Given the description of an element on the screen output the (x, y) to click on. 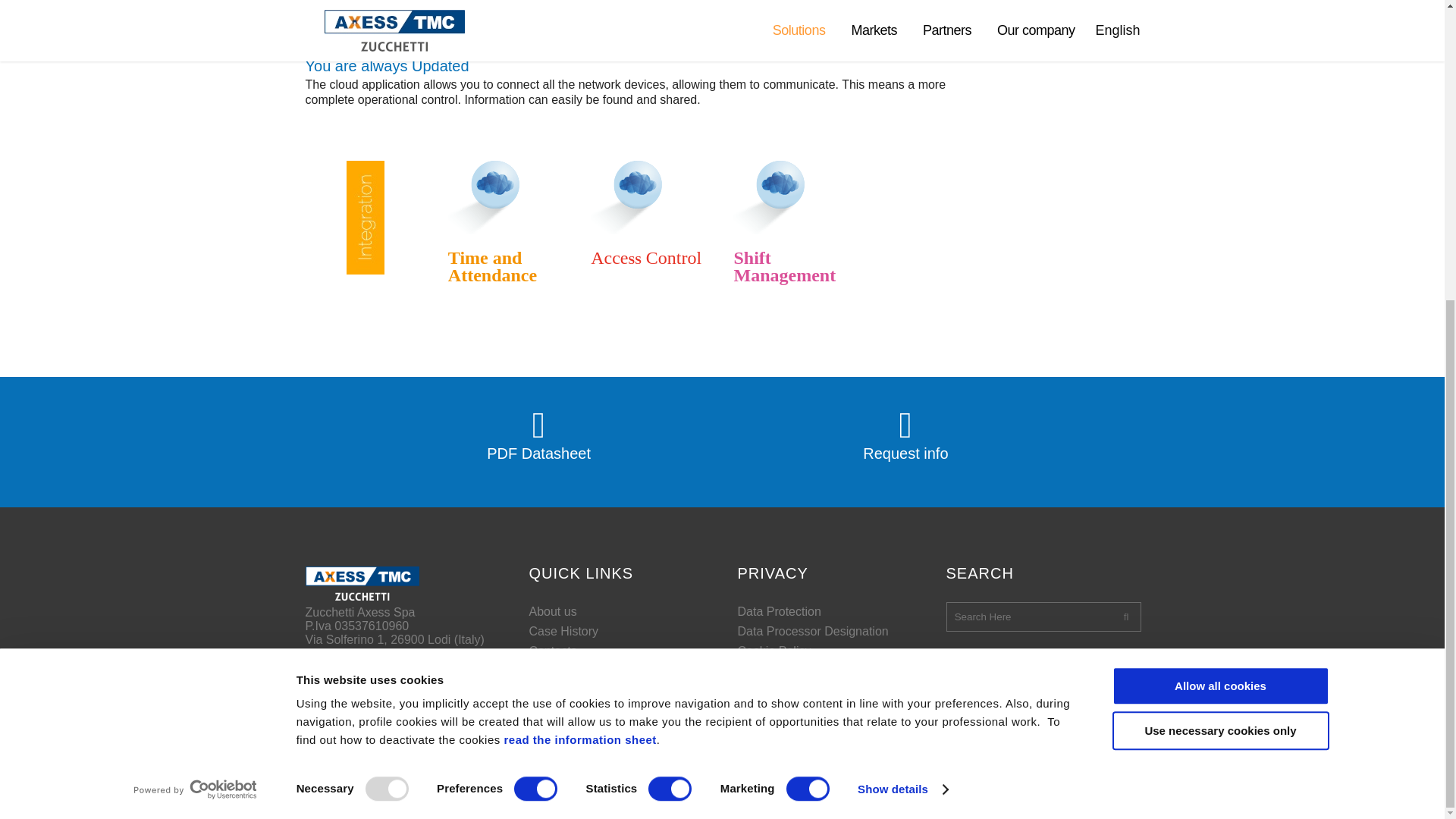
Show details (902, 322)
ico-sfera-oltre-97x97 (769, 197)
ico-sfera-oltre-97x97 (627, 197)
Allow all cookies (1219, 218)
read the information sheet (579, 272)
Info cookies (579, 272)
Use necessary cookies only (1219, 263)
ico-sfera-oltre-97x97 (484, 197)
